Given the description of an element on the screen output the (x, y) to click on. 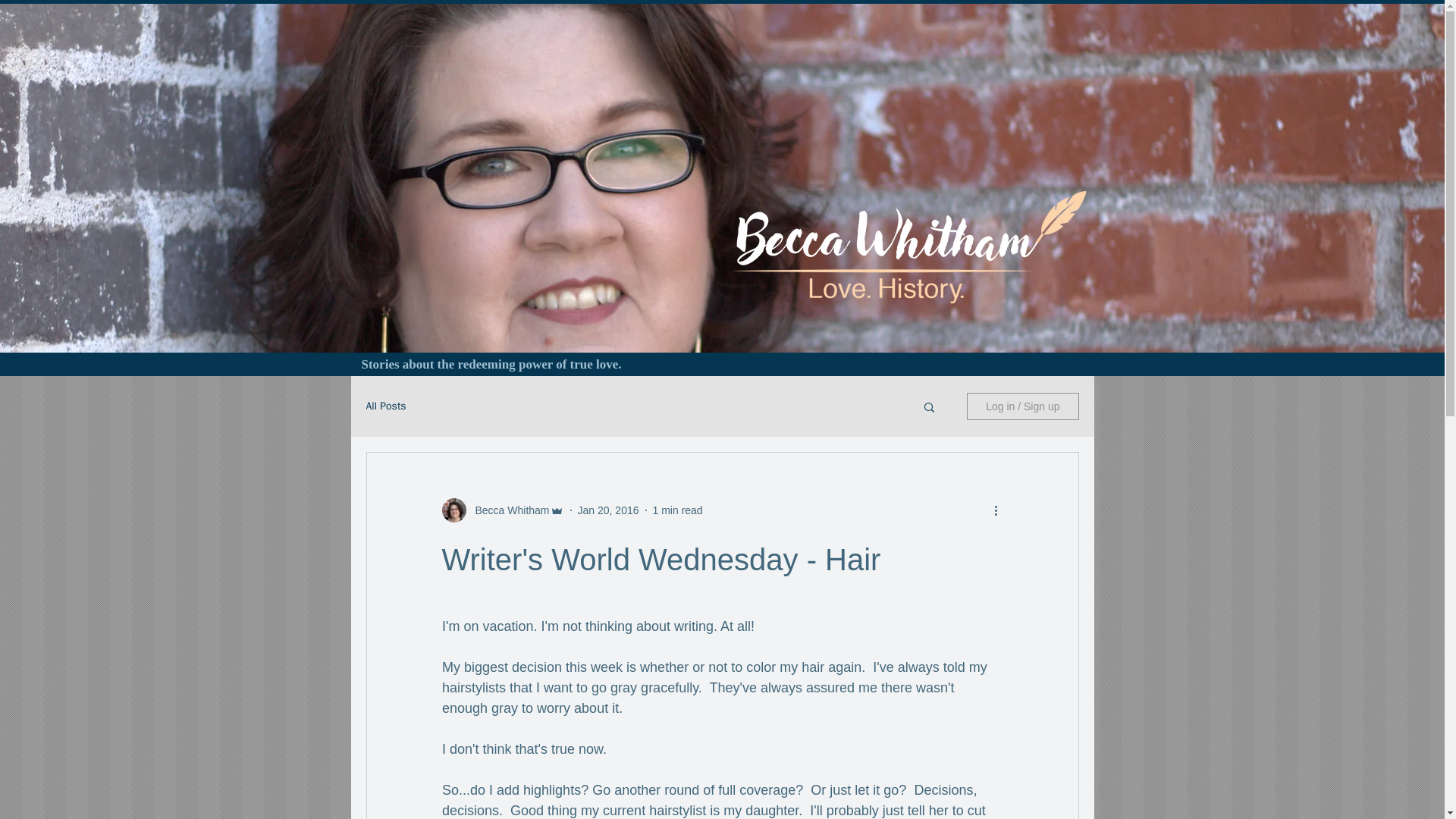
1 min read (677, 509)
All Posts (385, 406)
Jan 20, 2016 (608, 509)
Becca Whitham (506, 509)
